Given the description of an element on the screen output the (x, y) to click on. 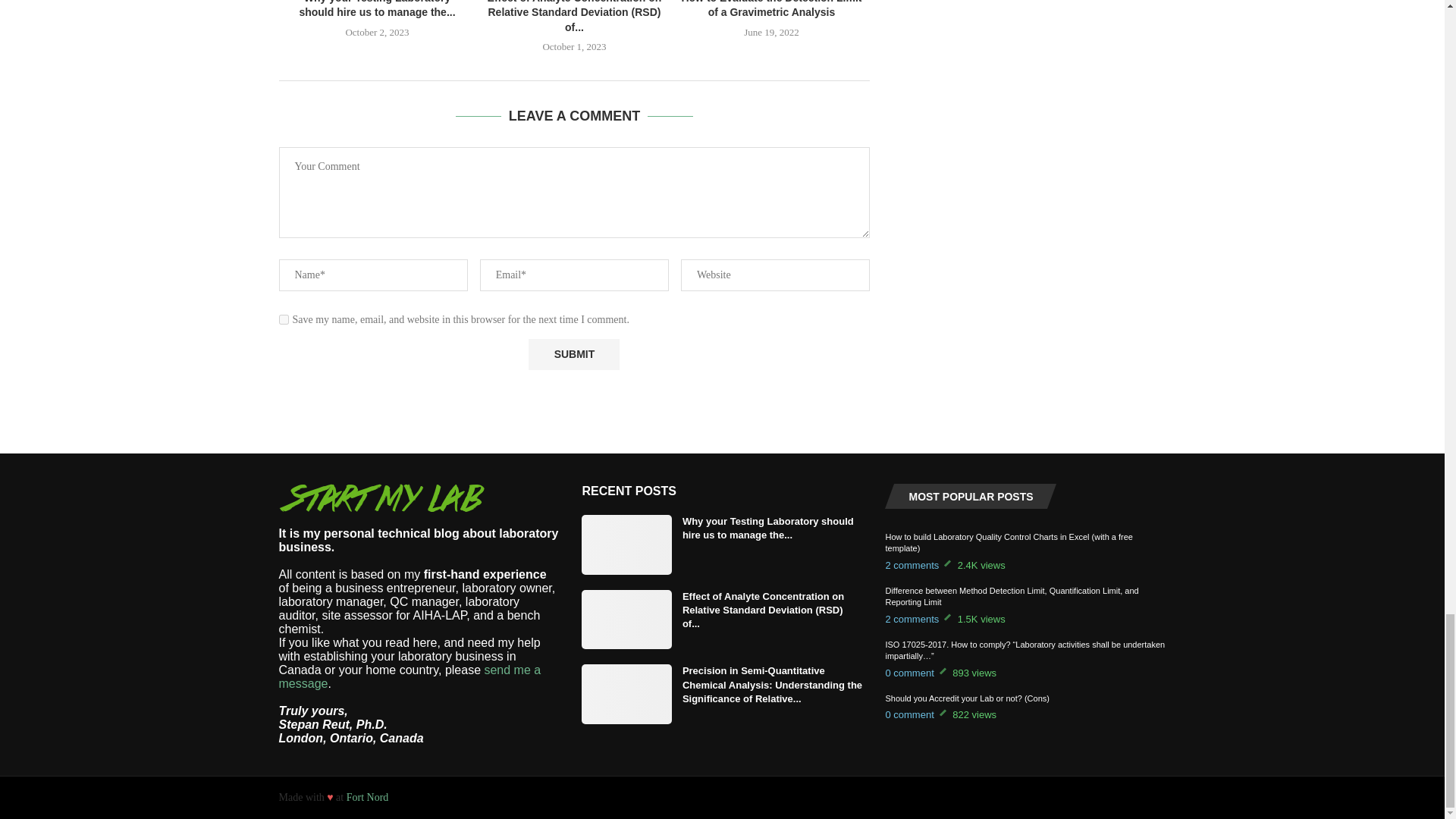
Submit (574, 354)
yes (283, 319)
